Given the description of an element on the screen output the (x, y) to click on. 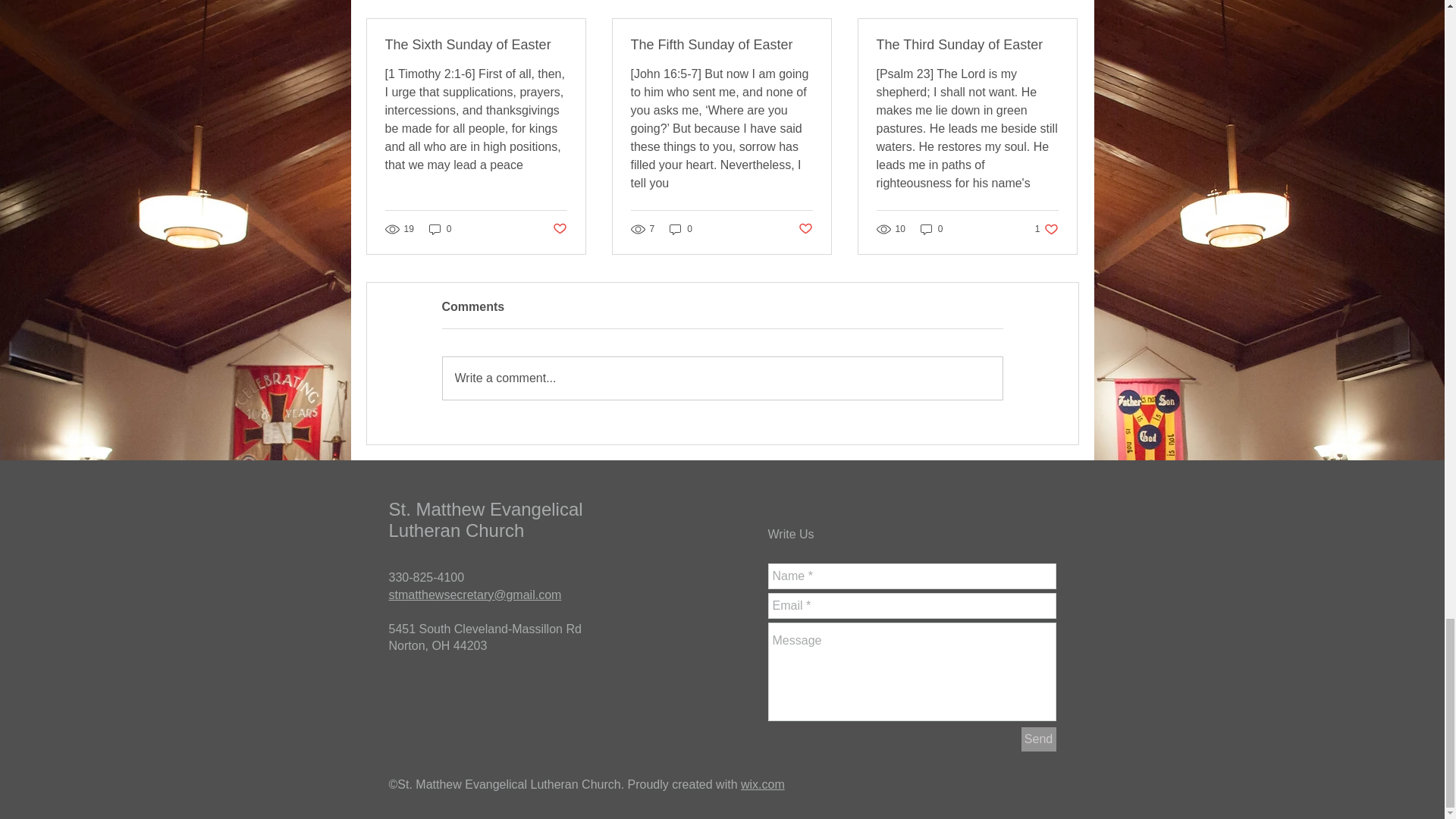
See All (1061, 1)
The Sixth Sunday of Easter (476, 44)
The Third Sunday of Easter (1046, 228)
0 (967, 44)
The Fifth Sunday of Easter (440, 228)
Post not marked as liked (721, 44)
0 (804, 229)
wix.com (931, 228)
0 (762, 784)
Write a comment... (681, 228)
Send (722, 378)
Post not marked as liked (1037, 739)
